Given the description of an element on the screen output the (x, y) to click on. 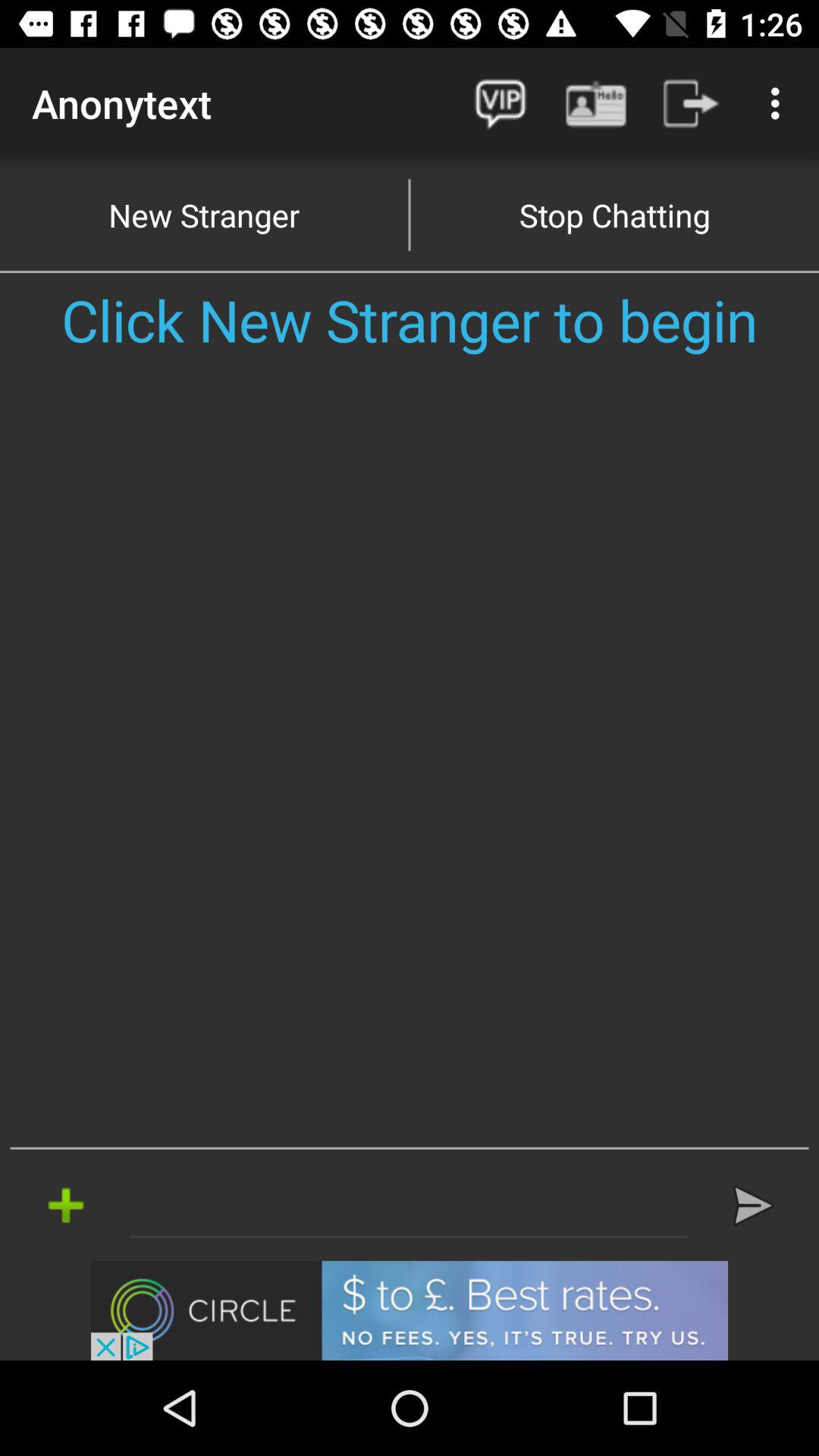
type search (409, 1204)
